Given the description of an element on the screen output the (x, y) to click on. 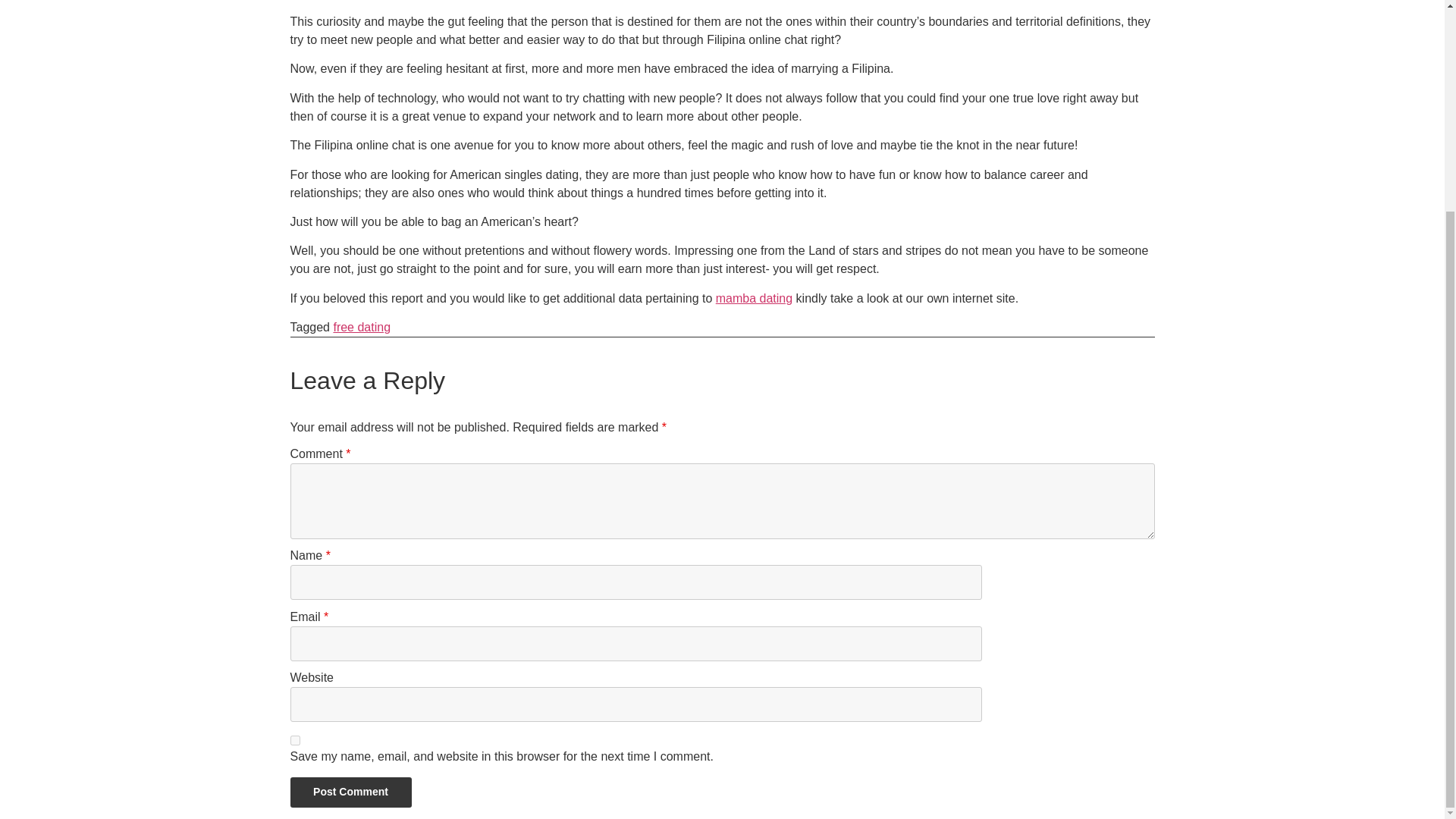
free dating (361, 327)
Post Comment (349, 792)
yes (294, 740)
mamba dating (754, 297)
Post Comment (349, 792)
